Given the description of an element on the screen output the (x, y) to click on. 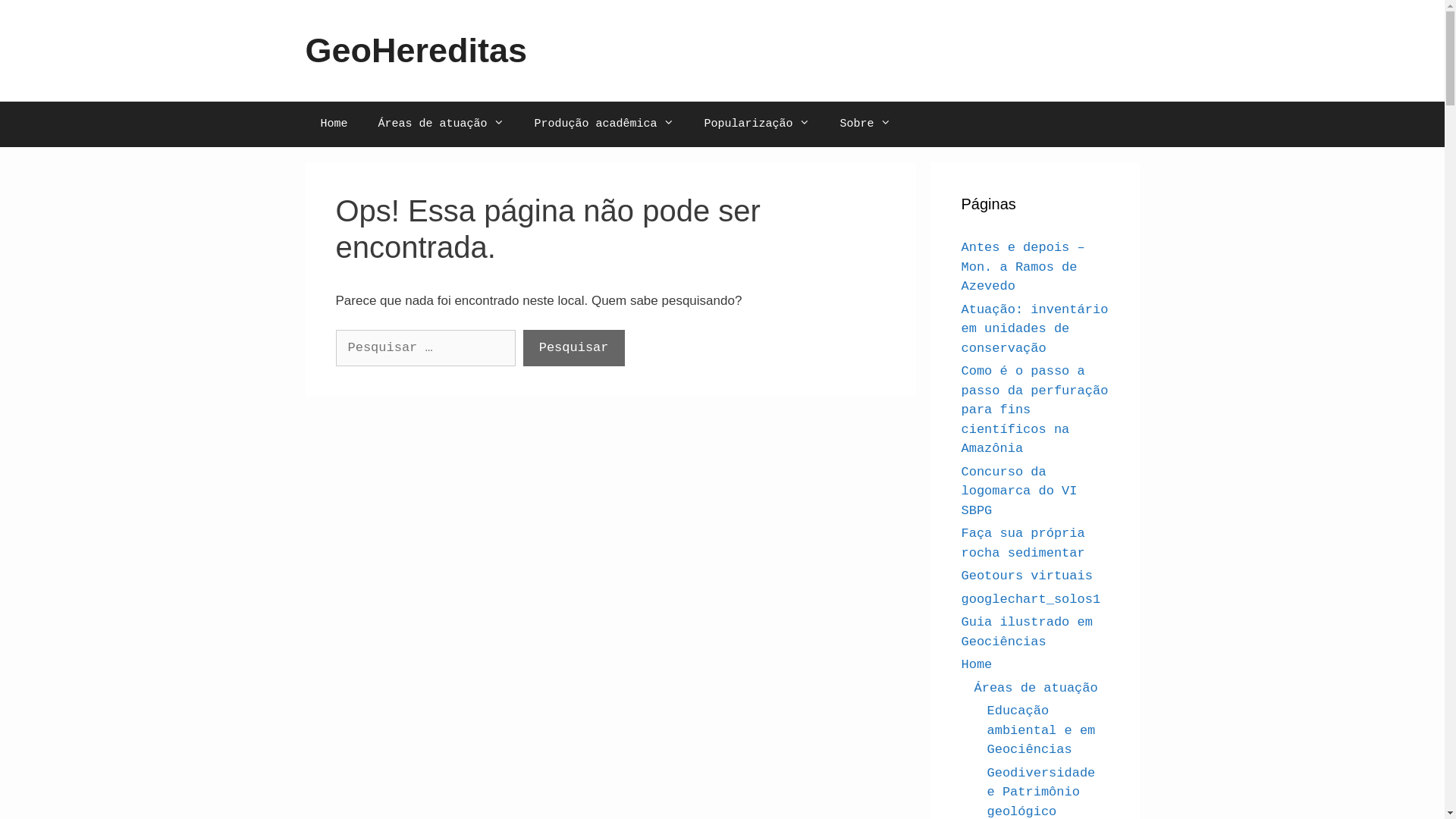
GeoHereditas Element type: text (415, 50)
Home Element type: text (333, 124)
Sobre Element type: text (865, 124)
Geotours virtuais Element type: text (1026, 575)
Pesquisar Element type: text (573, 347)
googlechart_solos1 Element type: text (1031, 598)
Concurso da logomarca do VI SBPG Element type: text (1019, 490)
Home Element type: text (976, 664)
Pesquisar por: Element type: hover (424, 347)
